Given the description of an element on the screen output the (x, y) to click on. 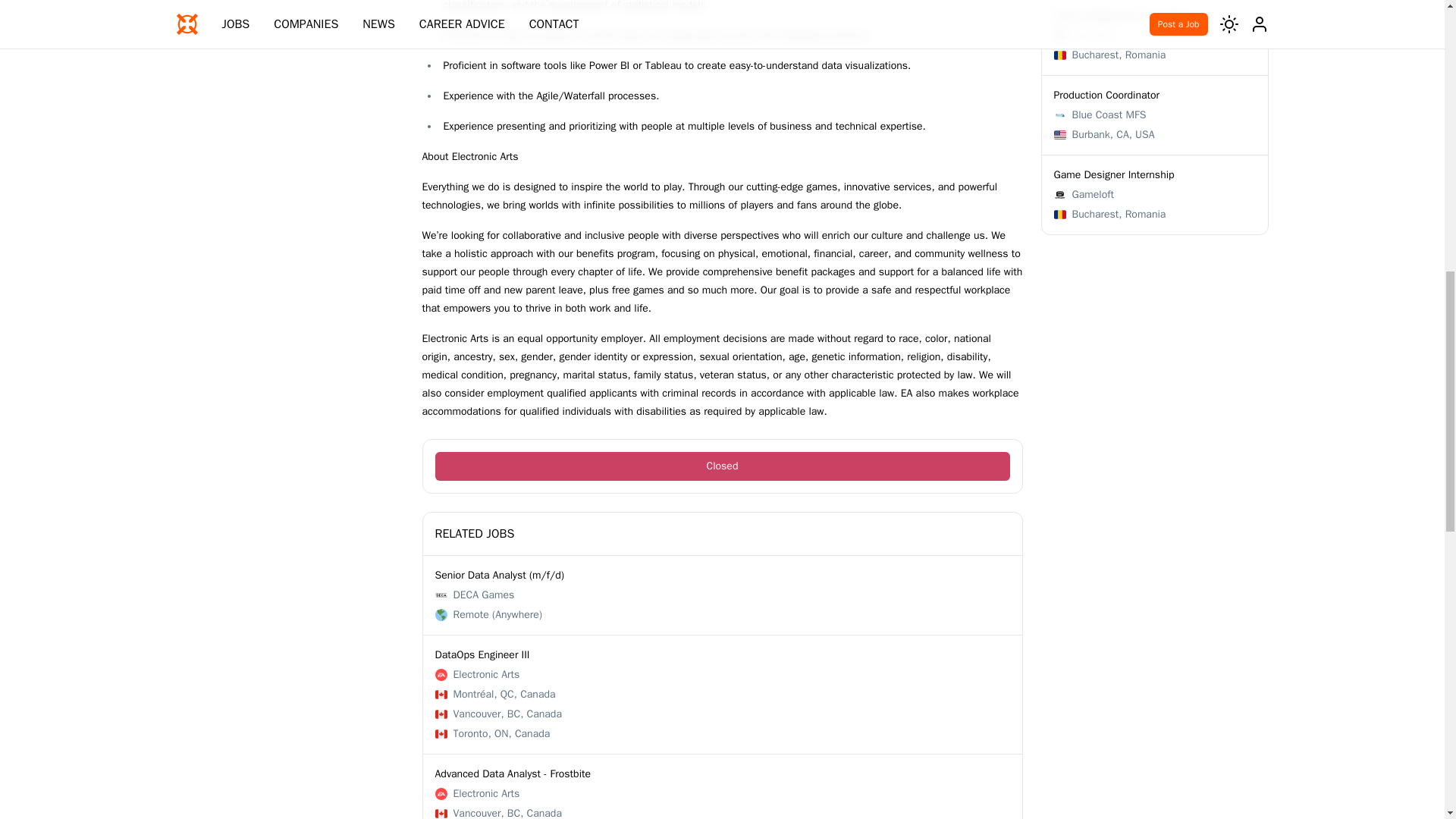
Closed (722, 466)
Advanced Data Analyst - Frostbite (513, 773)
DataOps Engineer III (1155, 115)
